Given the description of an element on the screen output the (x, y) to click on. 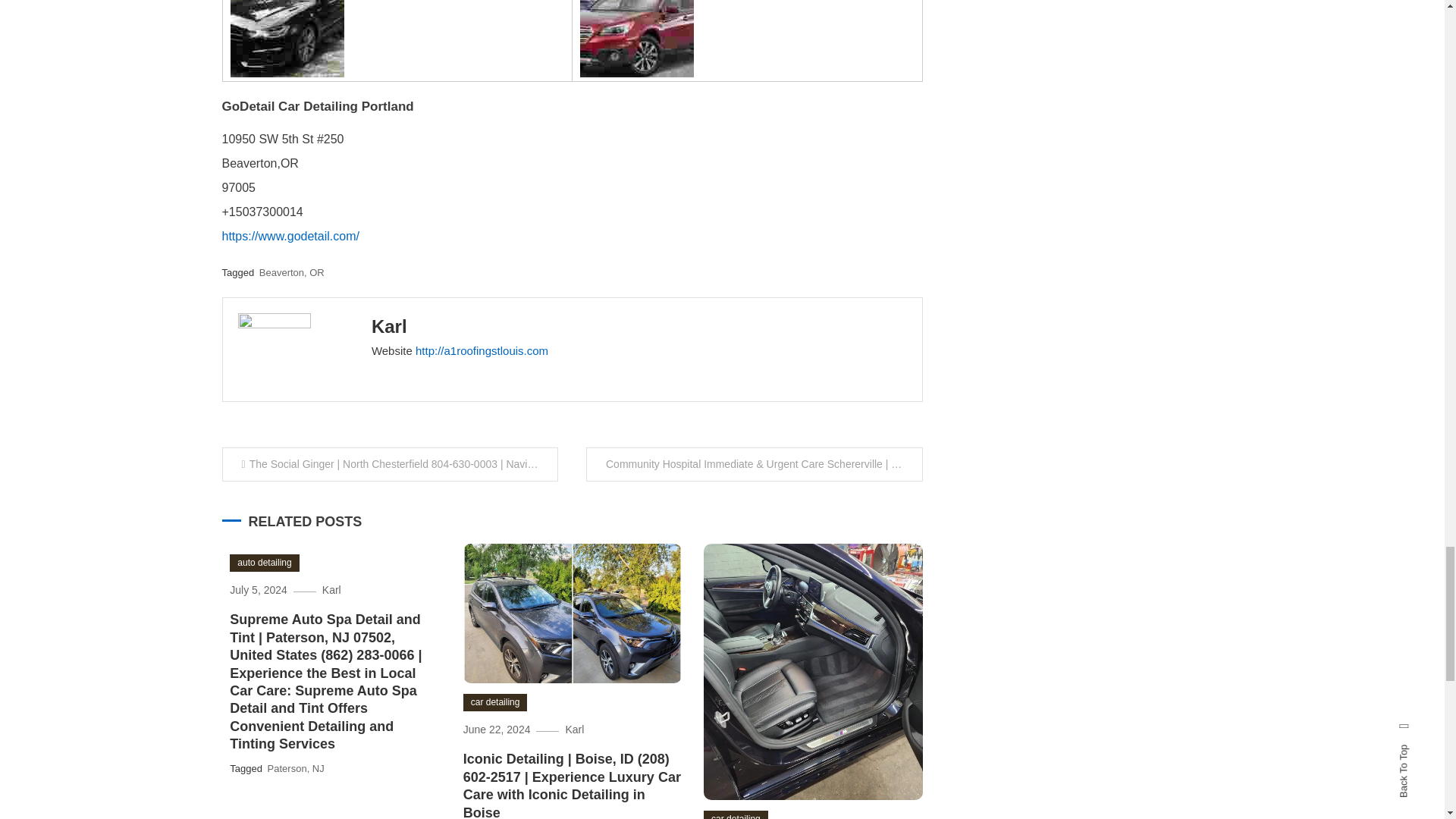
Posts by Karl (389, 326)
